Given the description of an element on the screen output the (x, y) to click on. 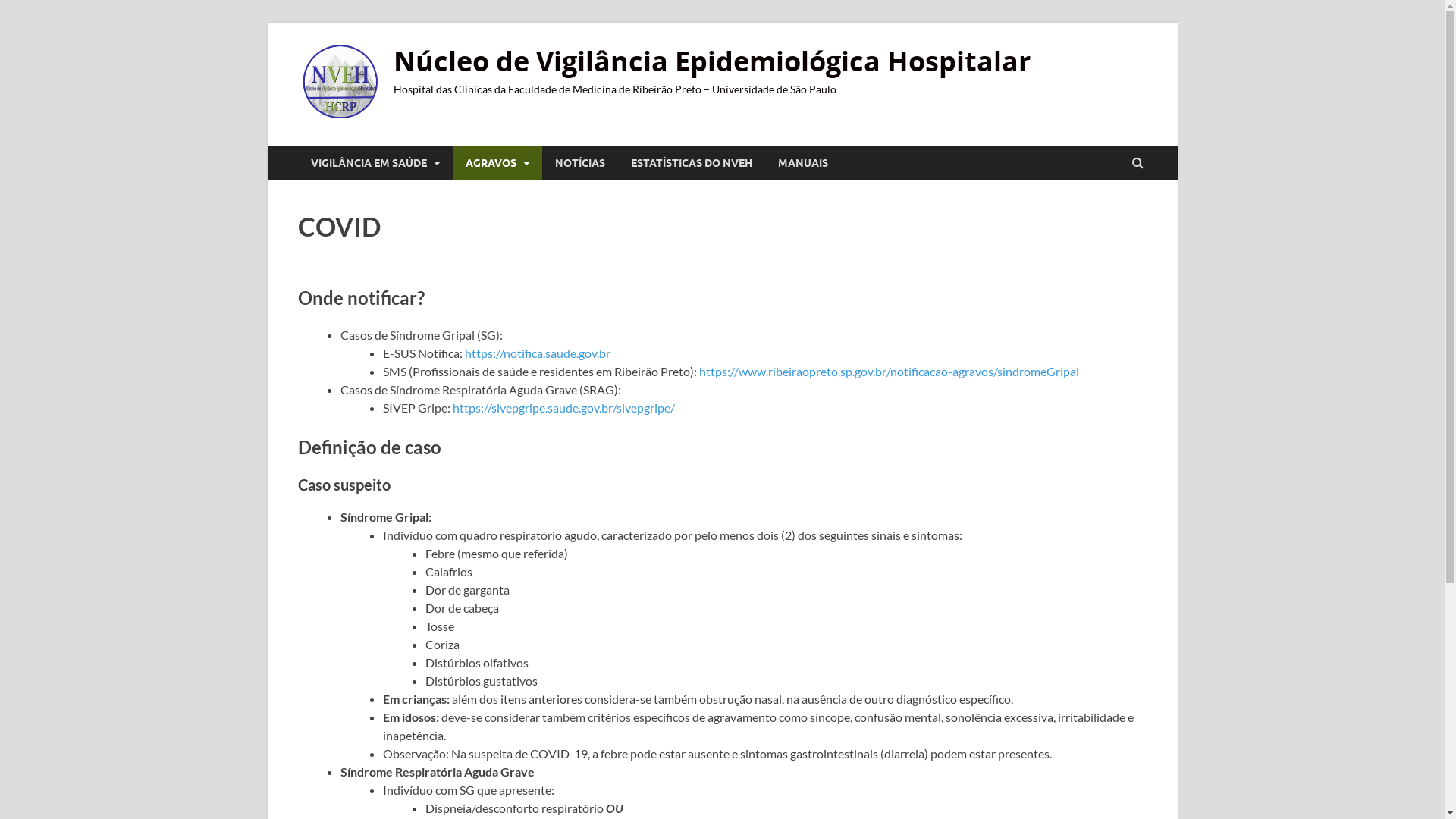
https://notifica.saude.gov.br Element type: text (536, 352)
AGRAVOS Element type: text (496, 162)
MANUAIS Element type: text (802, 162)
https://sivepgripe.saude.gov.br/sivepgripe/ Element type: text (562, 407)
